Given the description of an element on the screen output the (x, y) to click on. 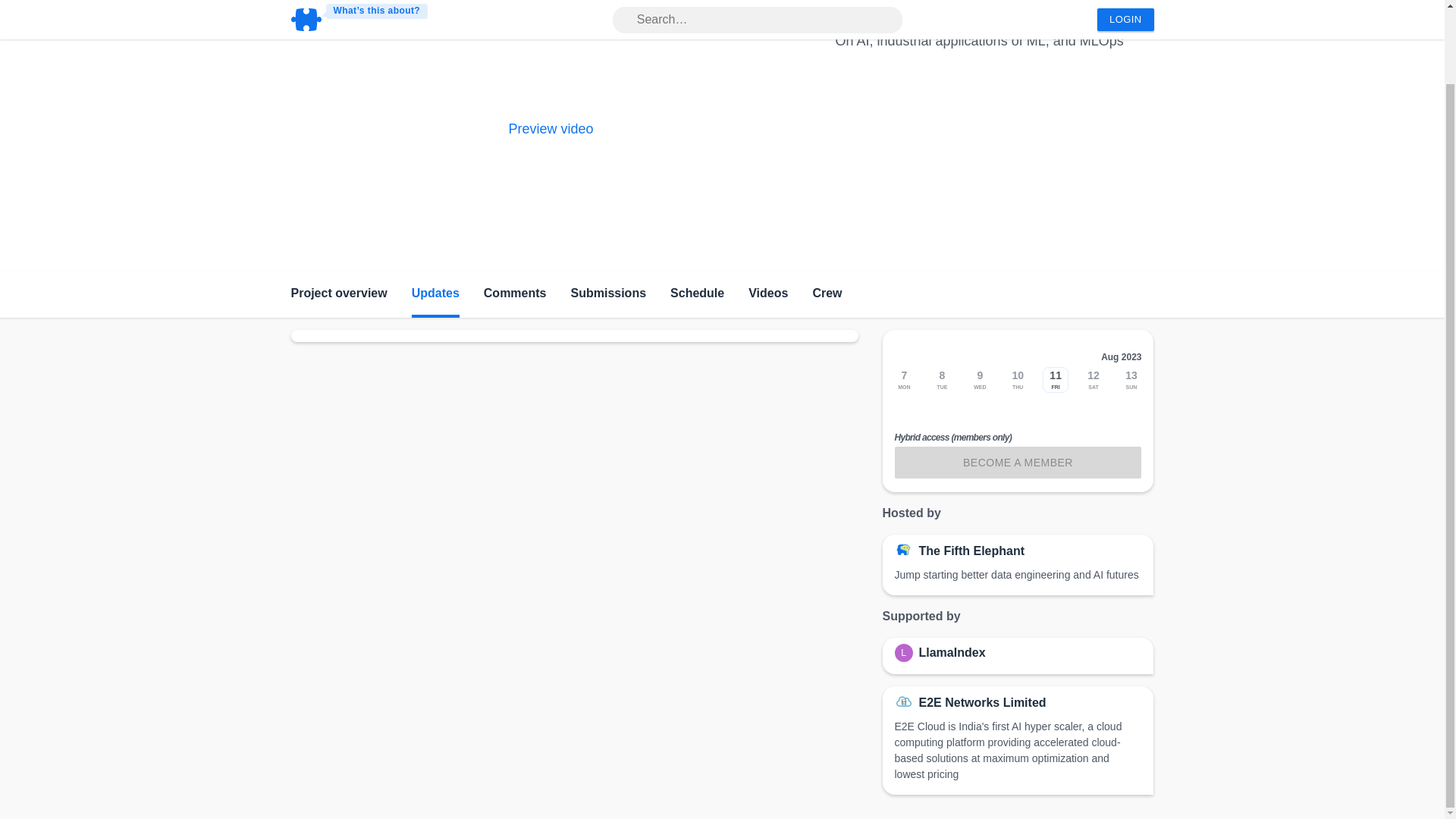
L (906, 652)
Updates (436, 294)
Preview video (550, 128)
LlamaIndex (951, 652)
The Fifth Elephant 2023 Monsoon (980, 19)
E2E Networks Limited (982, 702)
Project overview (339, 294)
Submissions (608, 294)
Comments (515, 294)
